Given the description of an element on the screen output the (x, y) to click on. 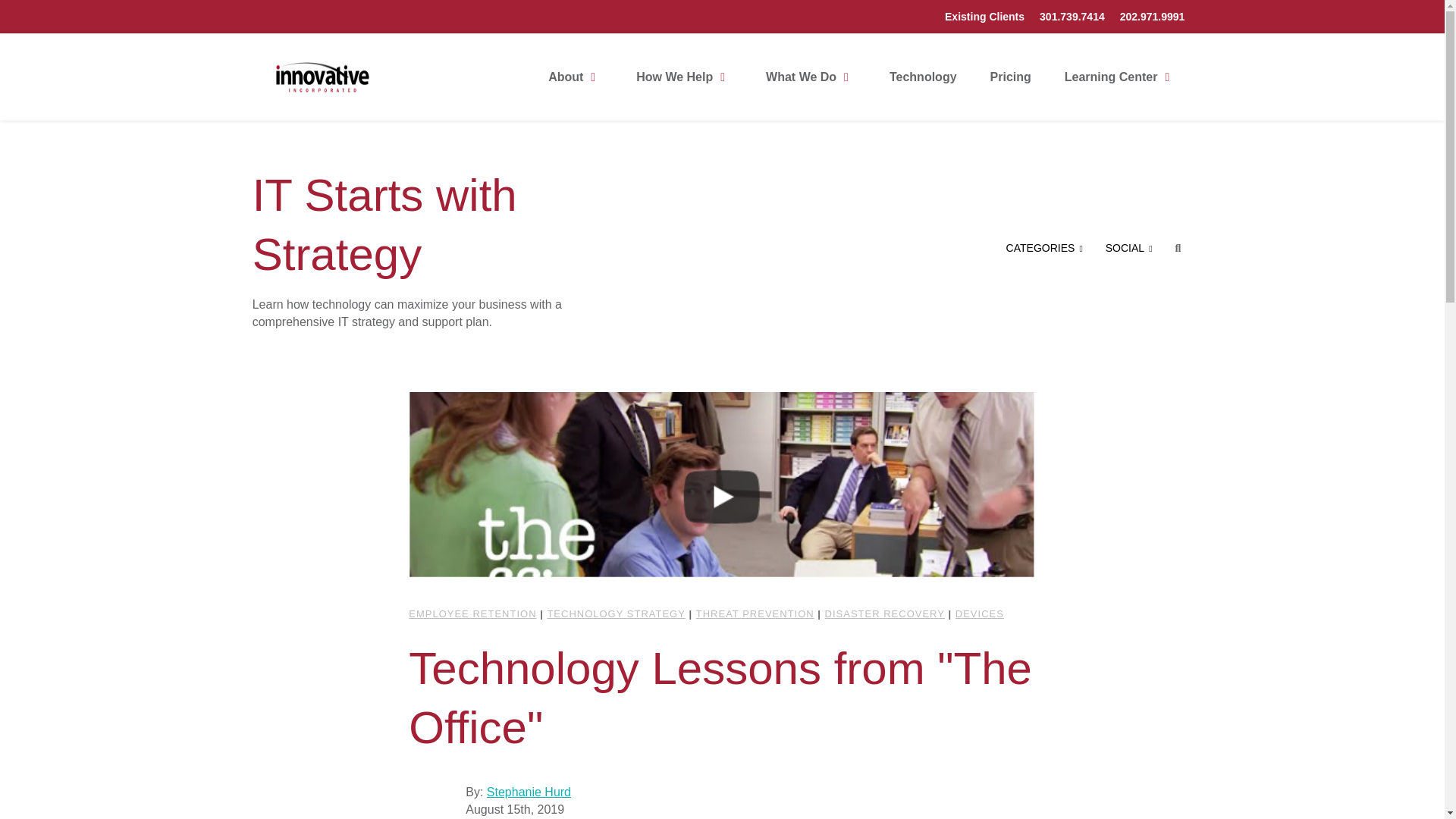
About (574, 76)
What We Do (810, 76)
Technology (923, 76)
Technology Lessons from  (722, 496)
202.971.9991 (1152, 16)
Stephanie Hurd (433, 797)
301.739.7414 (1072, 16)
How We Help (684, 76)
Learning Center (1120, 76)
Existing Clients (984, 16)
